Given the description of an element on the screen output the (x, y) to click on. 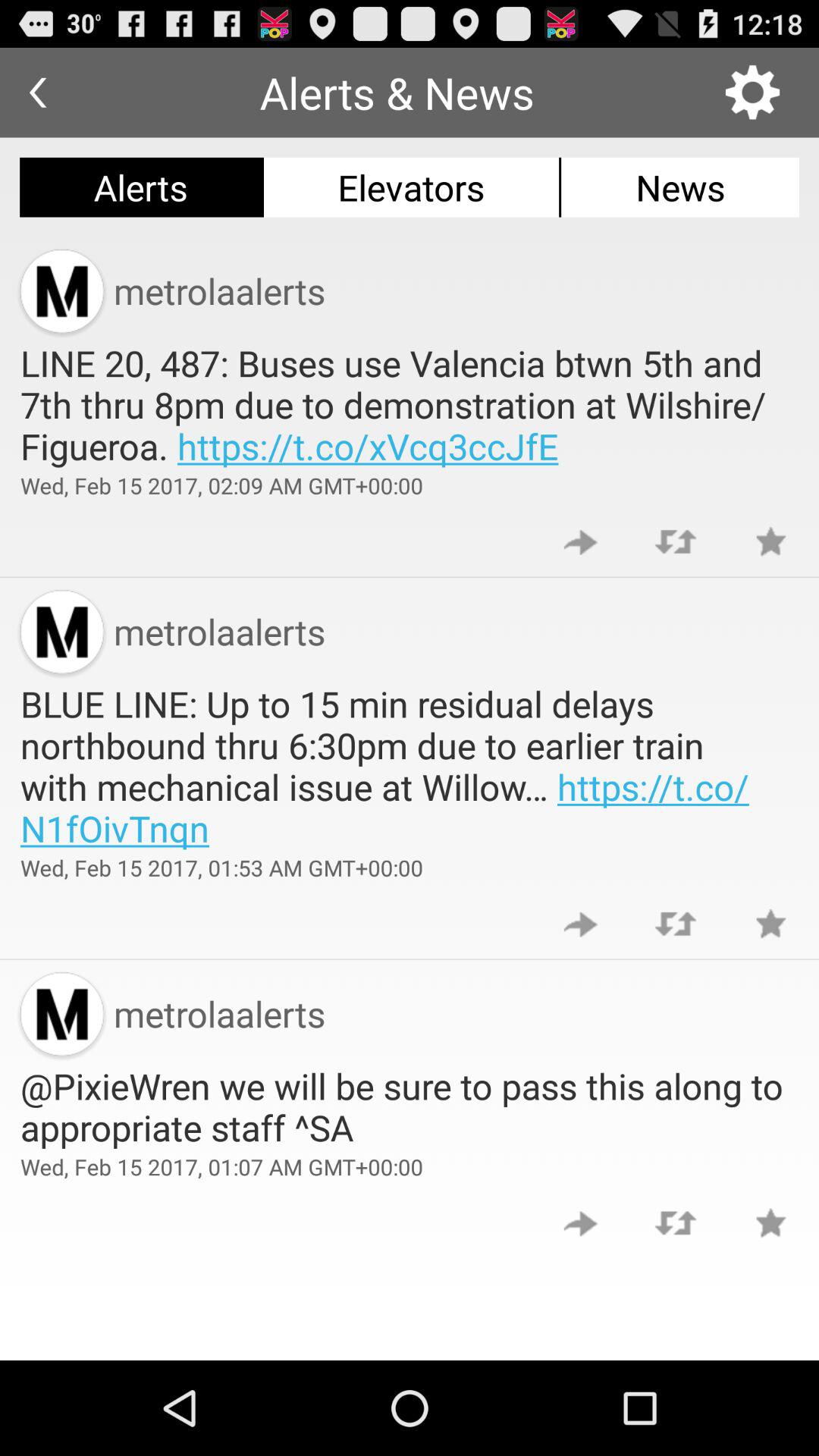
scroll to pixiewren we will icon (409, 1106)
